Given the description of an element on the screen output the (x, y) to click on. 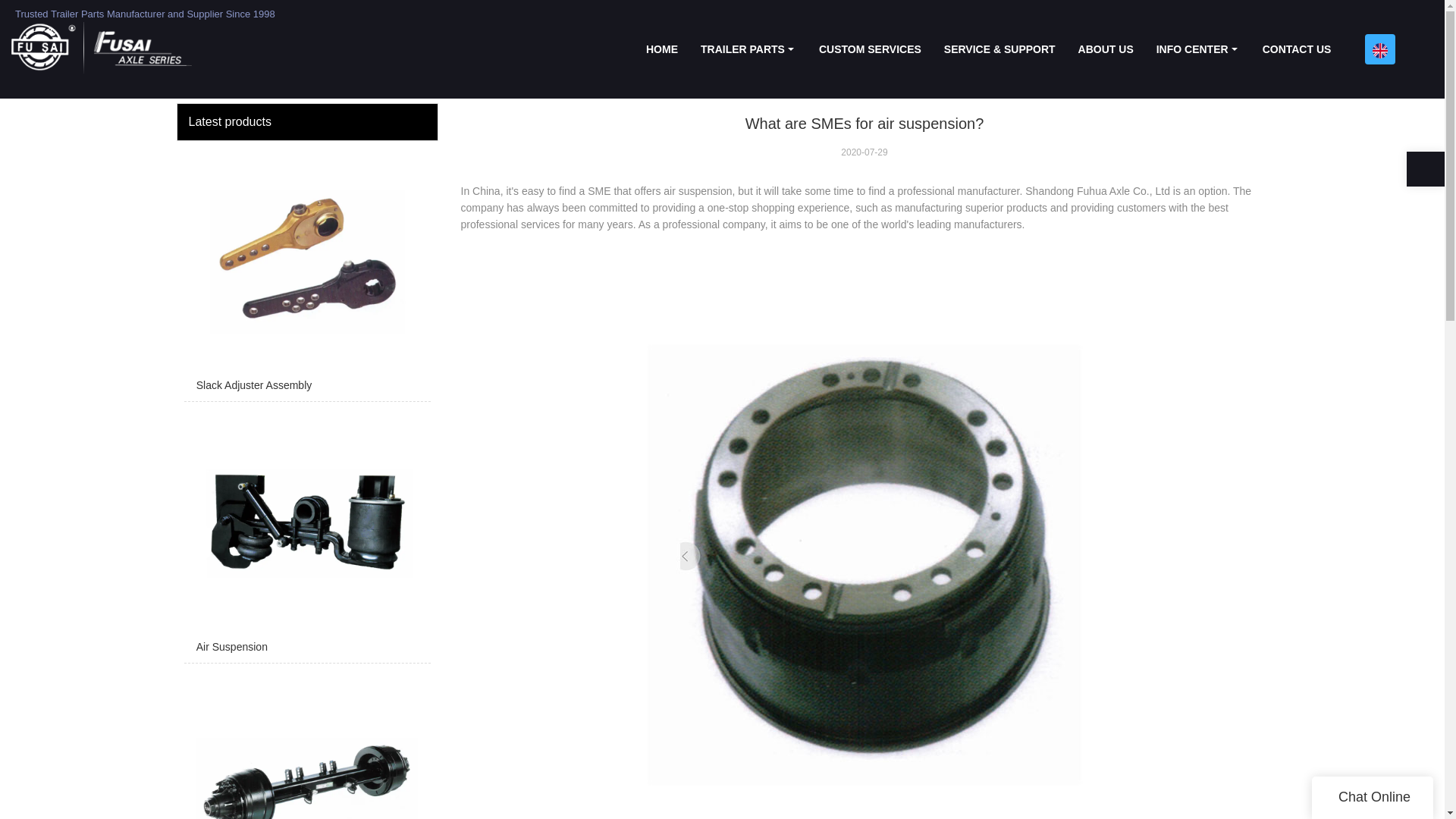
TRAILER PARTS (748, 49)
CUSTOM SERVICES (870, 49)
Slack Adjuster Assembly (306, 275)
INFO CENTER (1197, 49)
CONTACT US (1296, 49)
ABOUT US (1105, 49)
Air Suspension (306, 535)
American Inboard 16T-20T (306, 744)
